Given the description of an element on the screen output the (x, y) to click on. 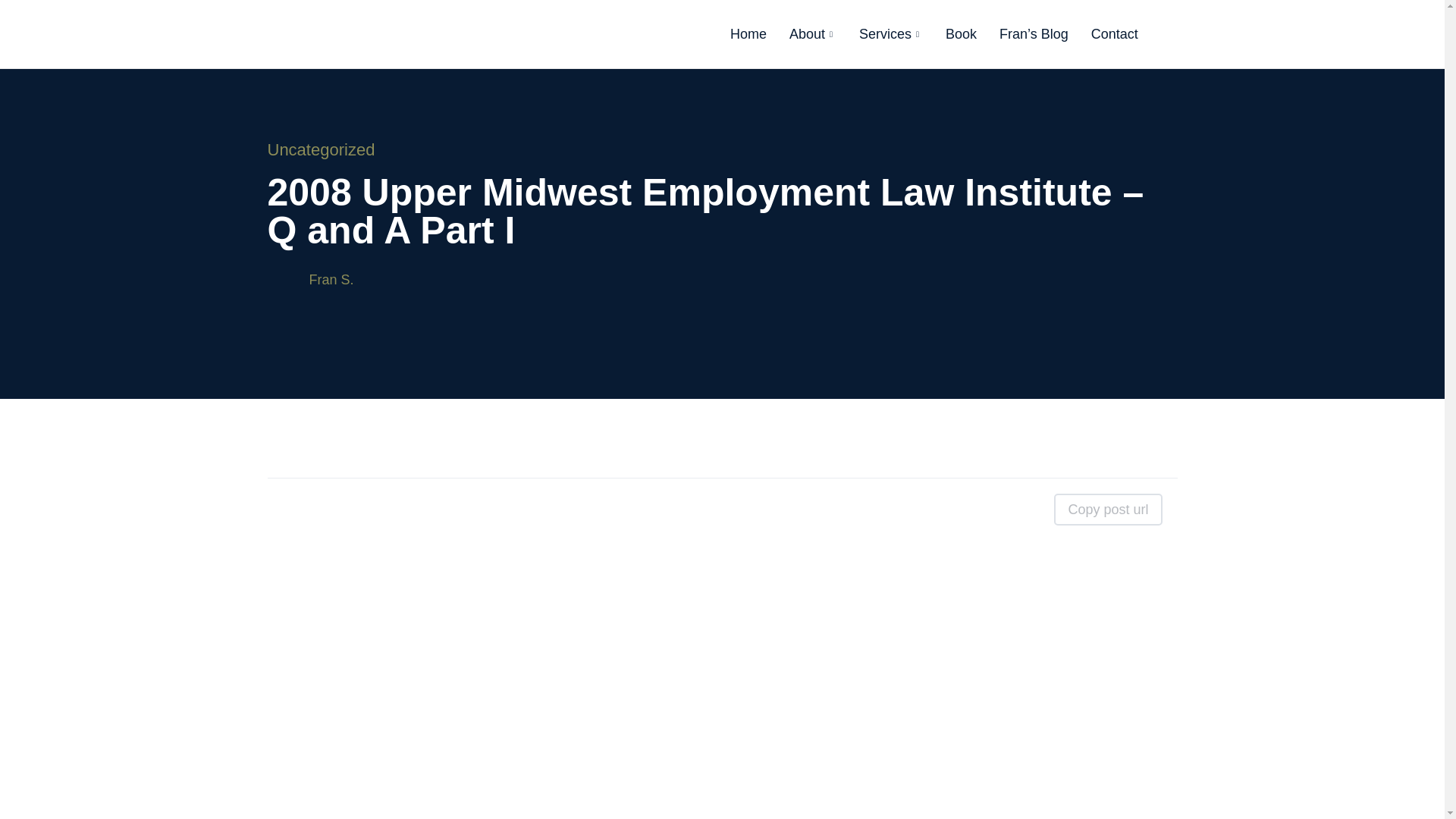
Home (748, 33)
Services (890, 33)
Book (961, 33)
Contact (1115, 33)
About (812, 33)
